Given the description of an element on the screen output the (x, y) to click on. 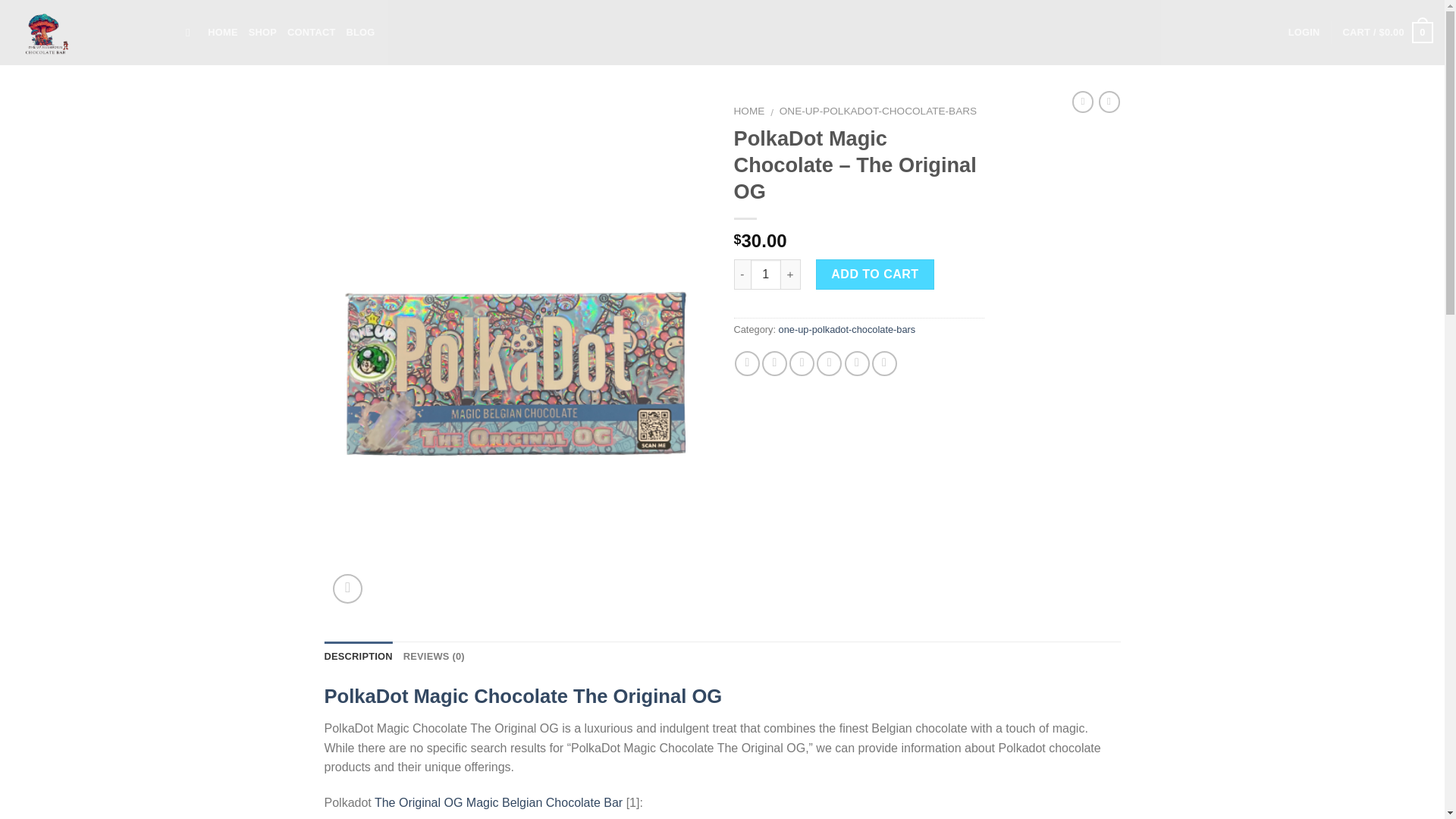
HOME (749, 111)
Qty (765, 274)
Pin on Pinterest (828, 363)
Zoom (347, 588)
DESCRIPTION (358, 656)
Share on Twitter (774, 363)
The Original OG Magic Belgian Chocolate Bar (498, 802)
CONTACT (310, 32)
ADD TO CART (874, 274)
Email to a Friend (801, 363)
1 (765, 274)
BLOG (360, 32)
LOGIN (1304, 32)
Share on Facebook (747, 363)
ONE UP MUSHROOM CHOCOLATE BARS (87, 32)
